Given the description of an element on the screen output the (x, y) to click on. 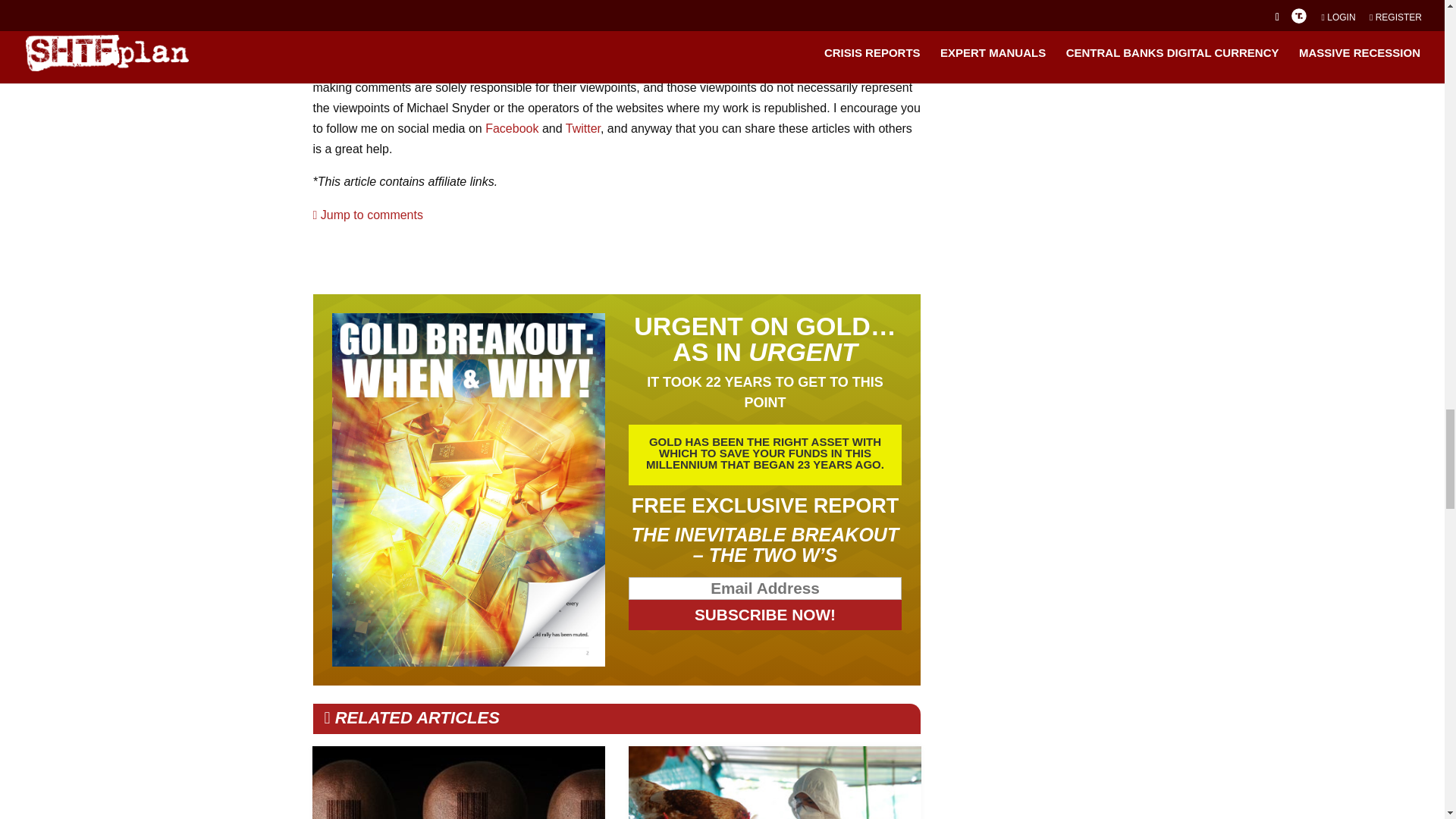
Subscribe Now! (765, 614)
Facebook (511, 128)
